Given the description of an element on the screen output the (x, y) to click on. 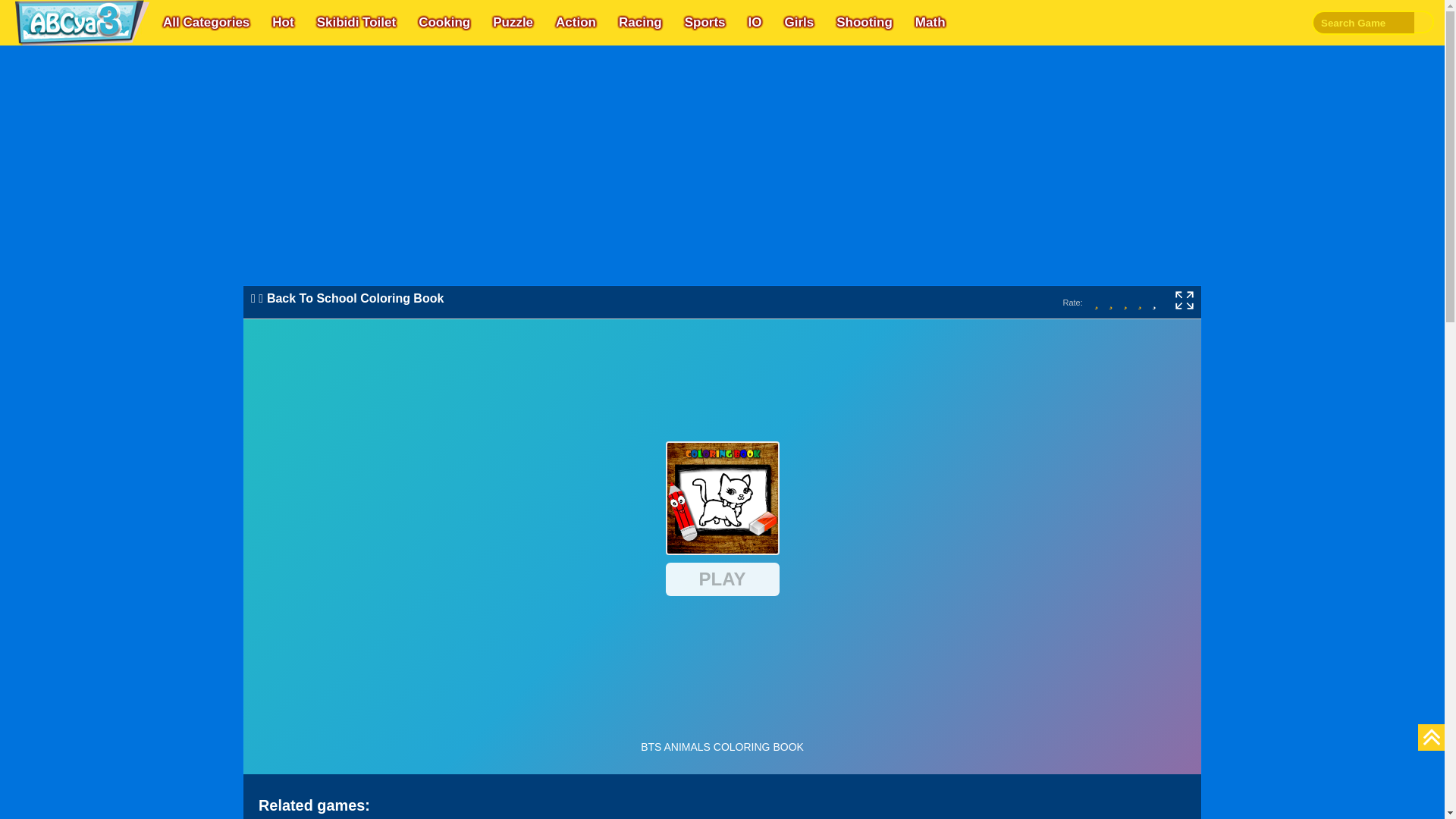
Action (576, 22)
Puzzle (512, 22)
Shooting (863, 22)
Skibidi Toilet (356, 22)
Racing (640, 22)
Advertisement (721, 185)
IO (753, 22)
Math (930, 22)
Sports (705, 22)
Advertisement (241, 185)
All Categories (206, 22)
Girls (798, 22)
Hot (282, 22)
Advertisement (1203, 185)
